Given the description of an element on the screen output the (x, y) to click on. 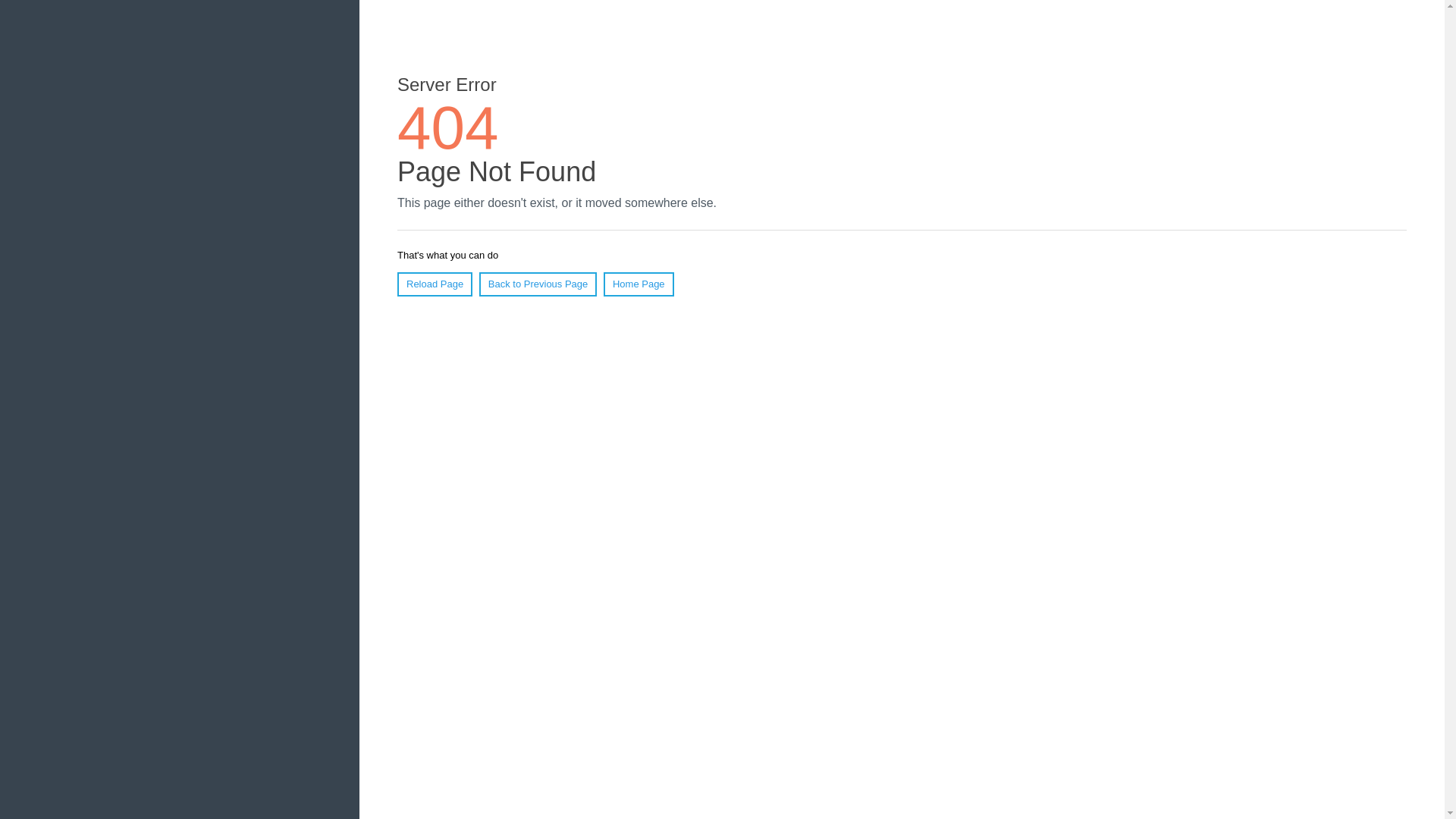
Back to Previous Page Element type: text (538, 284)
Home Page Element type: text (638, 284)
Reload Page Element type: text (434, 284)
